Given the description of an element on the screen output the (x, y) to click on. 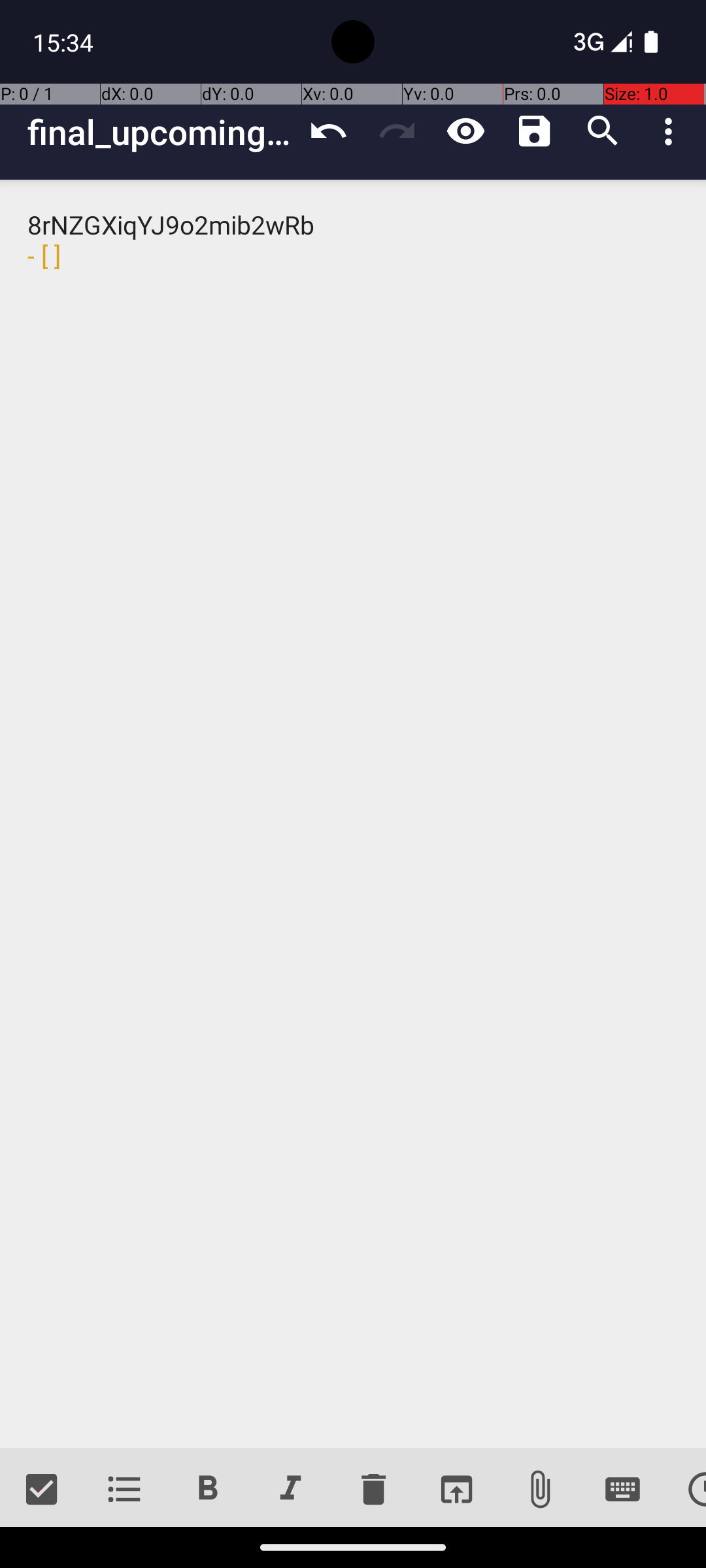
final_upcoming_presentation_outline Element type: android.widget.TextView (160, 131)
8rNZGXiqYJ9o2mib2wRb
- [ ]  Element type: android.widget.EditText (353, 813)
